Given the description of an element on the screen output the (x, y) to click on. 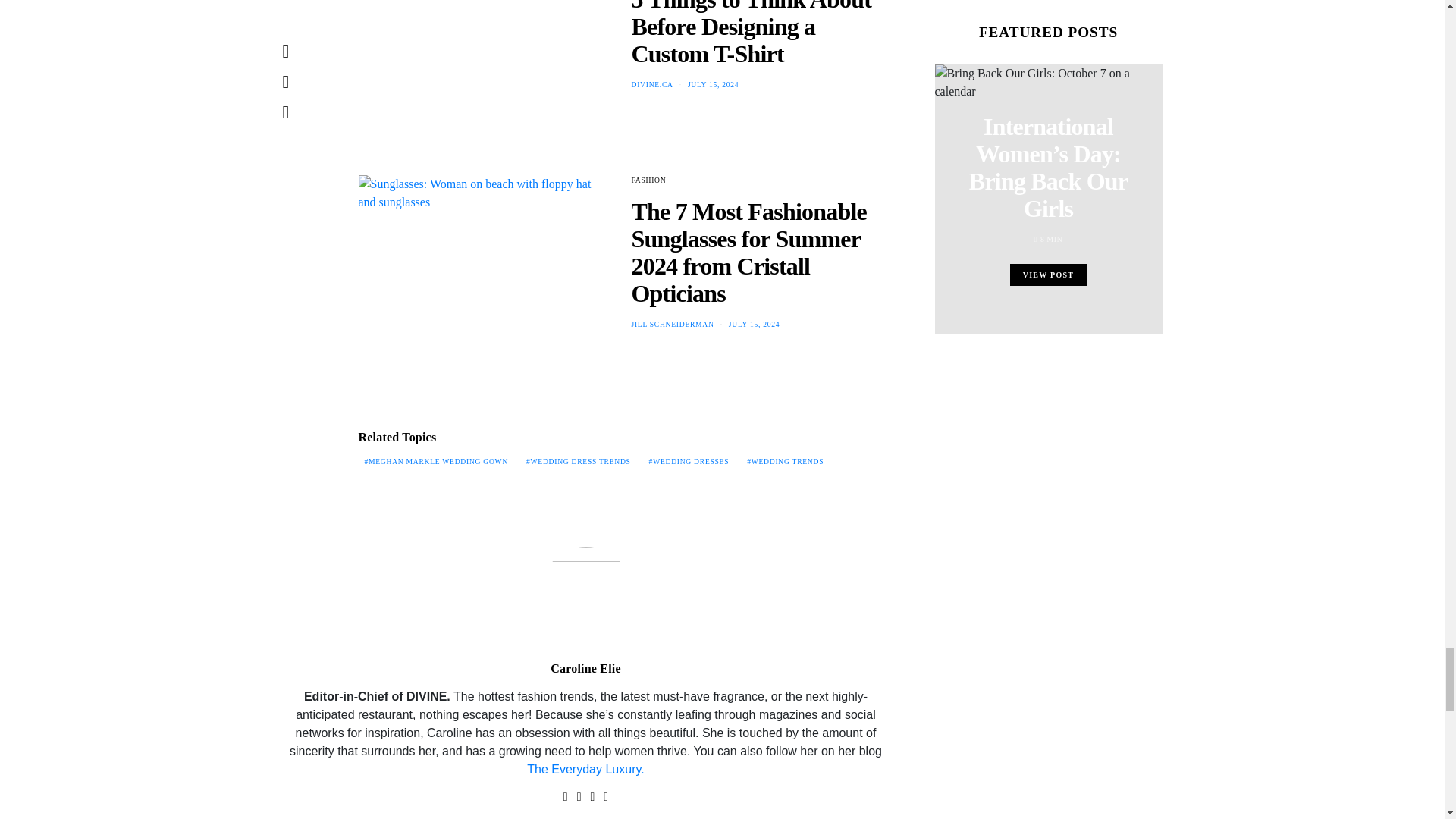
View all posts by Jill Schneiderman (671, 324)
View all posts by divine.ca (651, 84)
